Given the description of an element on the screen output the (x, y) to click on. 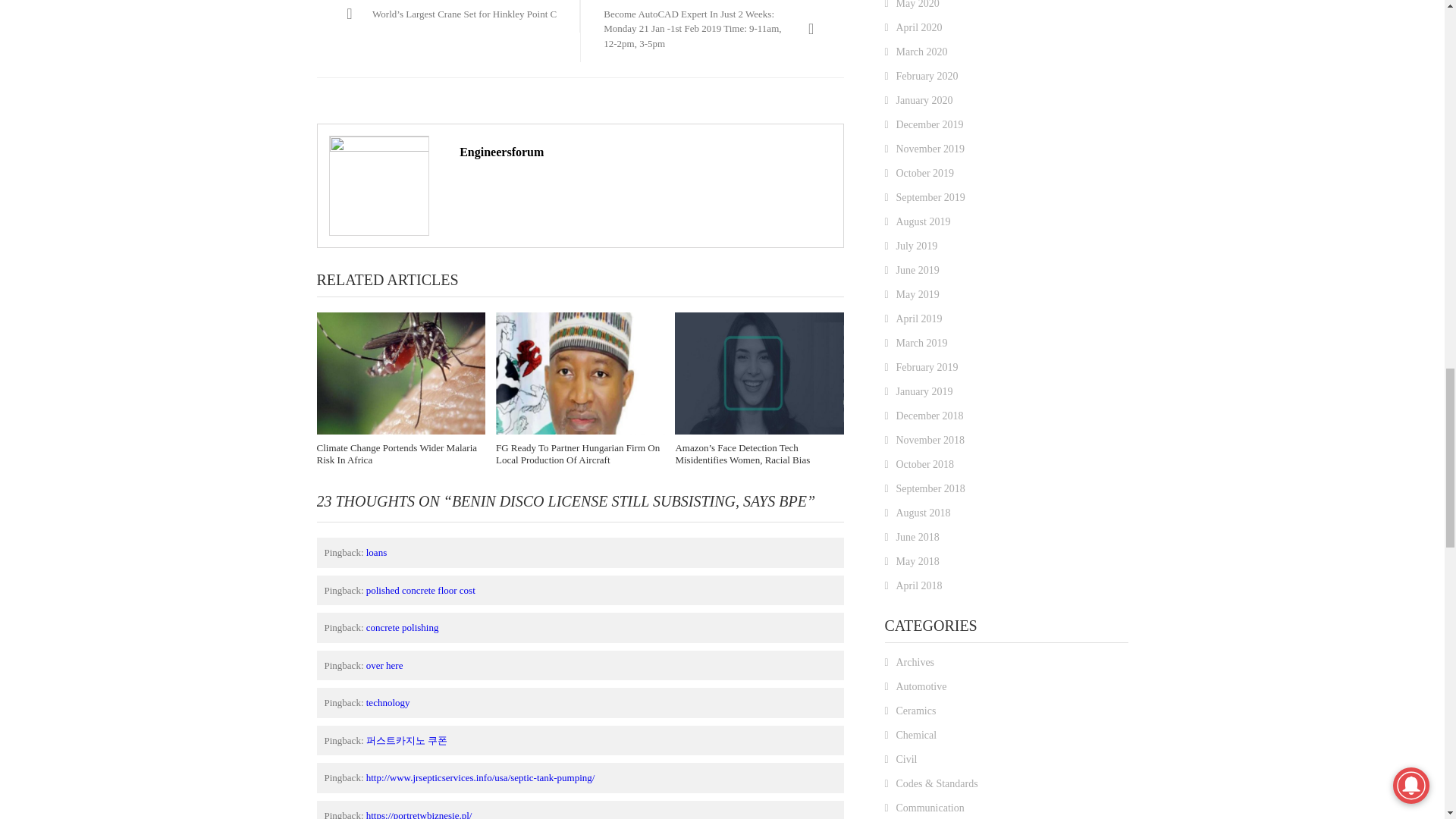
Climate Change Portends Wider Malaria Risk In Africa (401, 373)
